Given the description of an element on the screen output the (x, y) to click on. 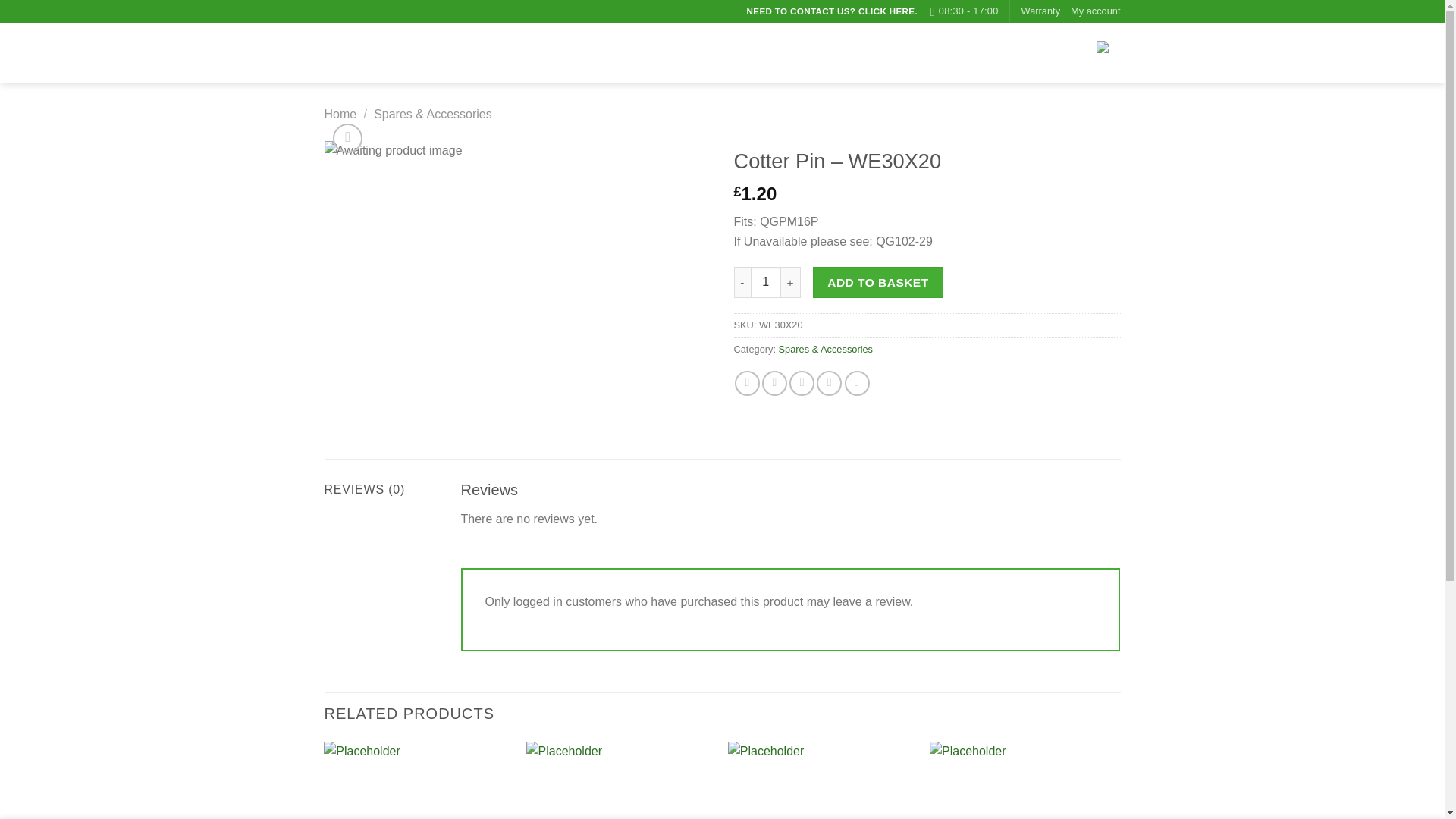
CONTACT US (949, 52)
1 (765, 281)
Share on LinkedIn (856, 383)
NEED TO CONTACT US? CLICK HERE. (832, 11)
Search (713, 53)
Share on Facebook (747, 383)
Basket (1067, 52)
Home (340, 113)
HOME (826, 52)
SHOP (878, 52)
08:30 - 17:00 (964, 11)
My account (1094, 11)
Zoom (347, 138)
Pin on Pinterest (828, 383)
Share on Twitter (774, 383)
